Given the description of an element on the screen output the (x, y) to click on. 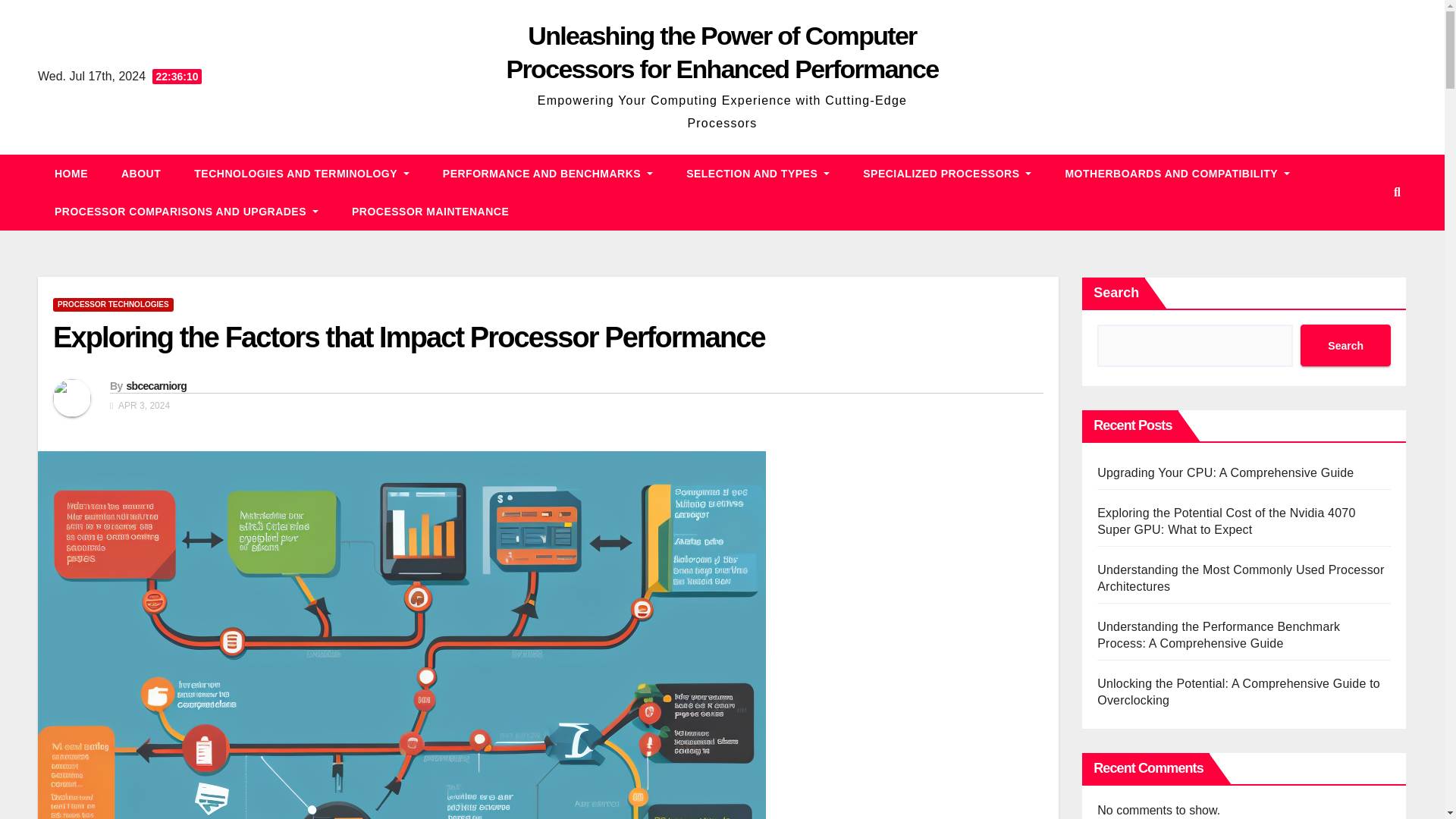
PROCESSOR COMPARISONS AND UPGRADES (185, 211)
Technologies and Terminology (301, 173)
PERFORMANCE AND BENCHMARKS (547, 173)
TECHNOLOGIES AND TERMINOLOGY (301, 173)
MOTHERBOARDS AND COMPATIBILITY (1177, 173)
Home (70, 173)
SPECIALIZED PROCESSORS (946, 173)
About (140, 173)
SELECTION AND TYPES (757, 173)
HOME (70, 173)
Performance and Benchmarks (547, 173)
PROCESSOR MAINTENANCE (429, 211)
ABOUT (140, 173)
